Given the description of an element on the screen output the (x, y) to click on. 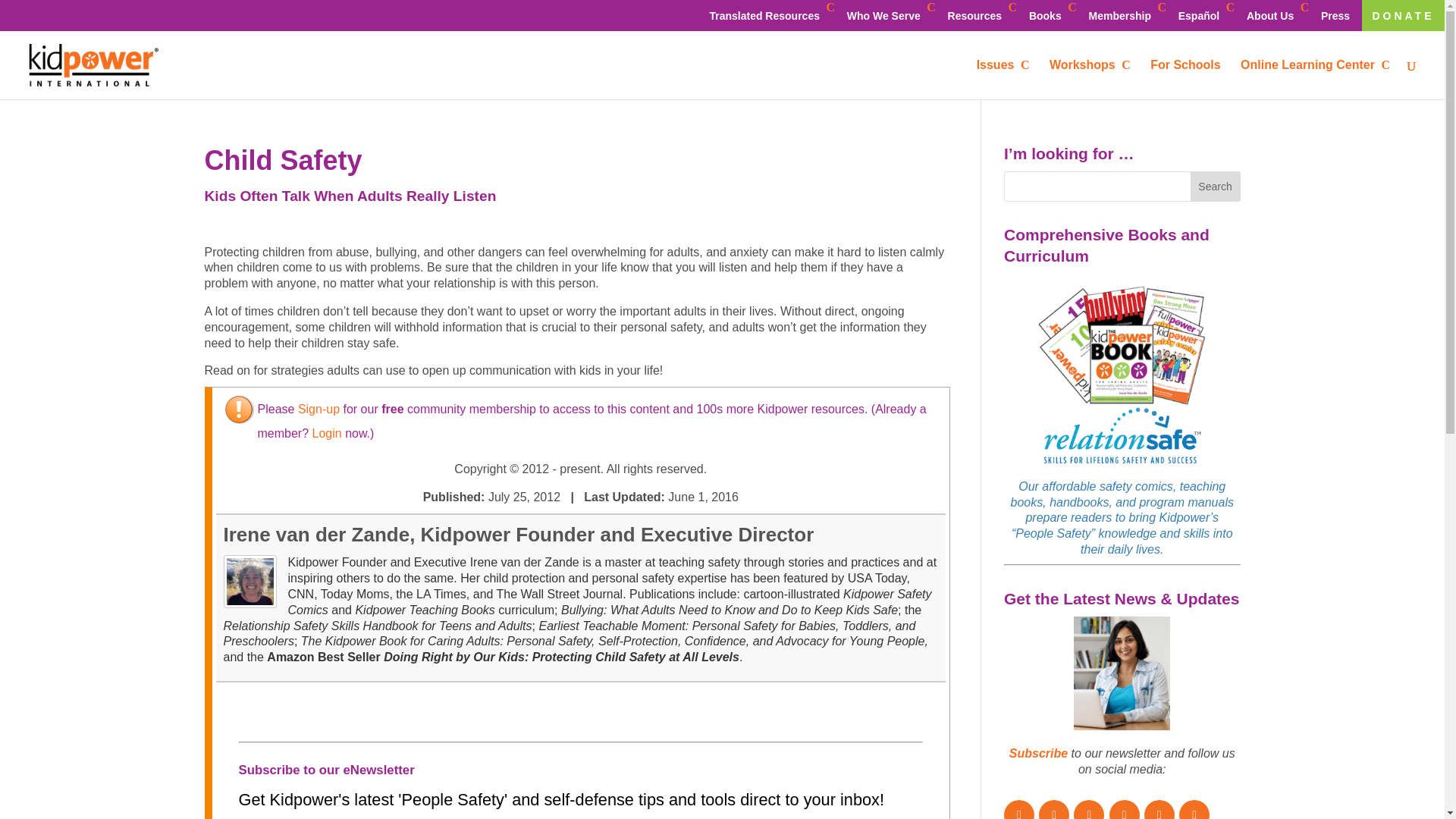
Search (1215, 186)
Books (1047, 15)
Who We Serve (887, 15)
Membership (1123, 15)
Resources (977, 15)
Translated Resources (767, 15)
